Given the description of an element on the screen output the (x, y) to click on. 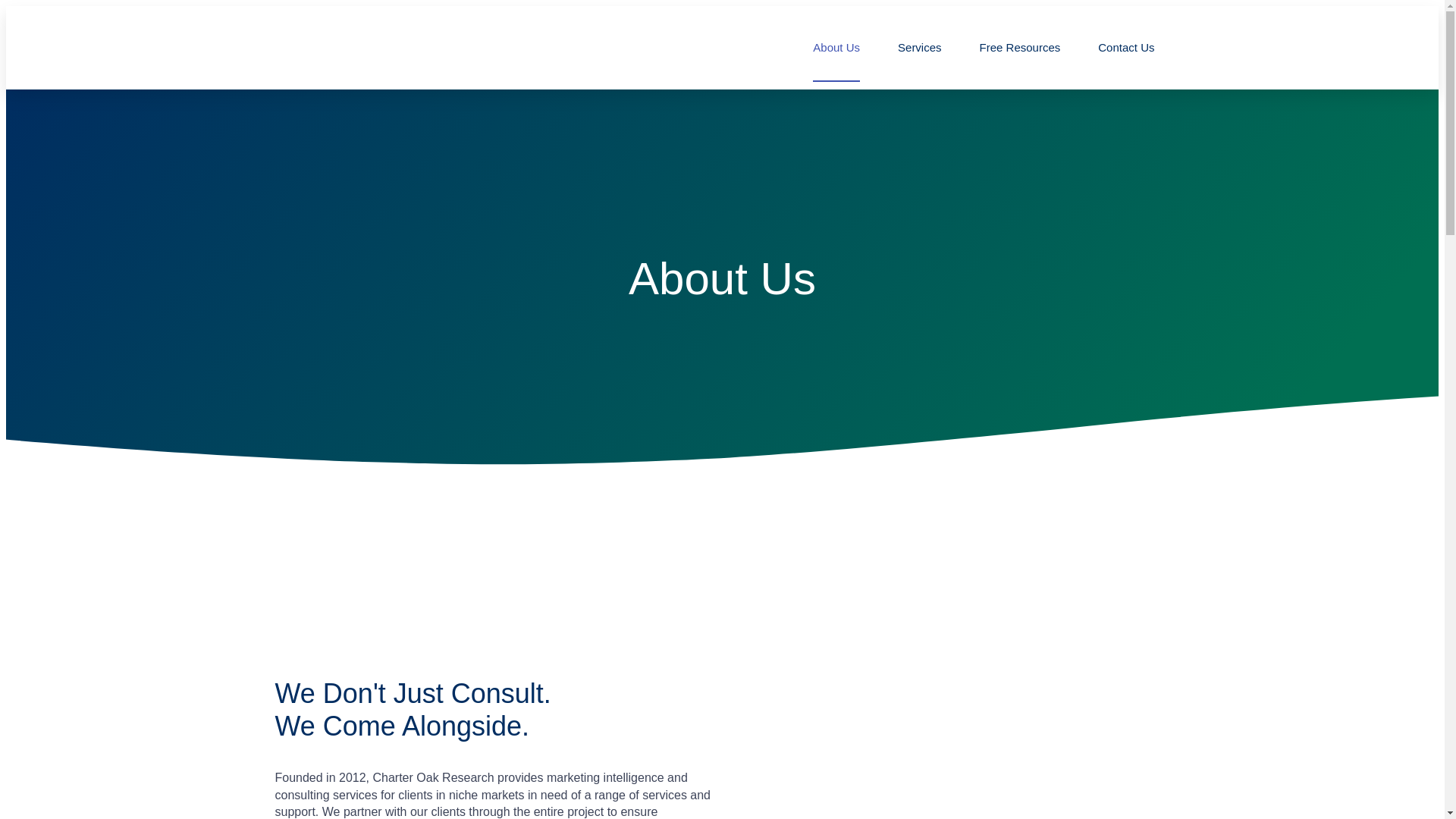
About Us (836, 47)
Services (920, 47)
Free Resources (1020, 47)
Contact Us (1125, 47)
